Given the description of an element on the screen output the (x, y) to click on. 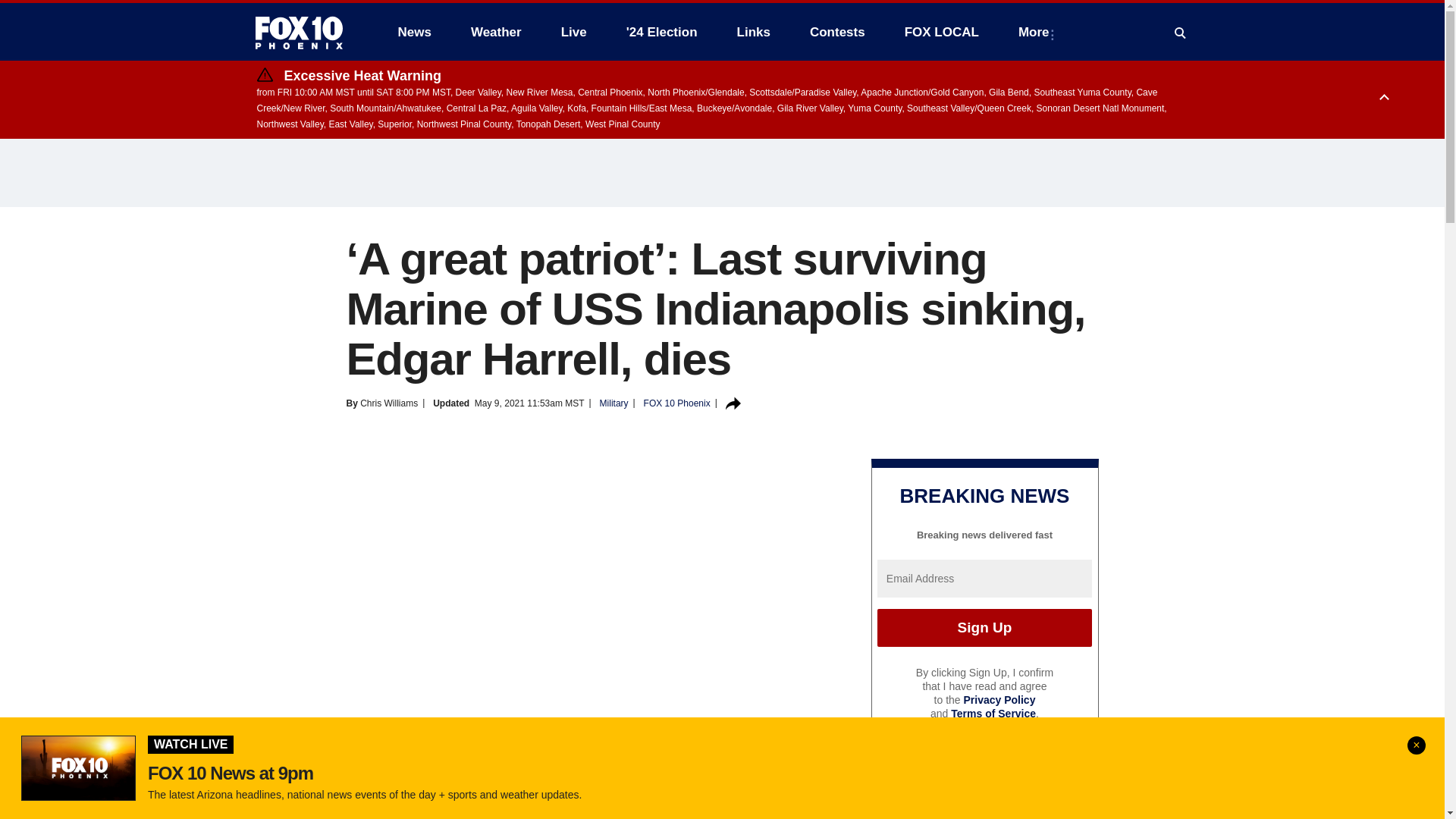
Weather (496, 32)
More (1036, 32)
FOX LOCAL (941, 32)
Live (573, 32)
Contests (837, 32)
News (413, 32)
Links (754, 32)
Sign Up (984, 628)
'24 Election (662, 32)
